Given the description of an element on the screen output the (x, y) to click on. 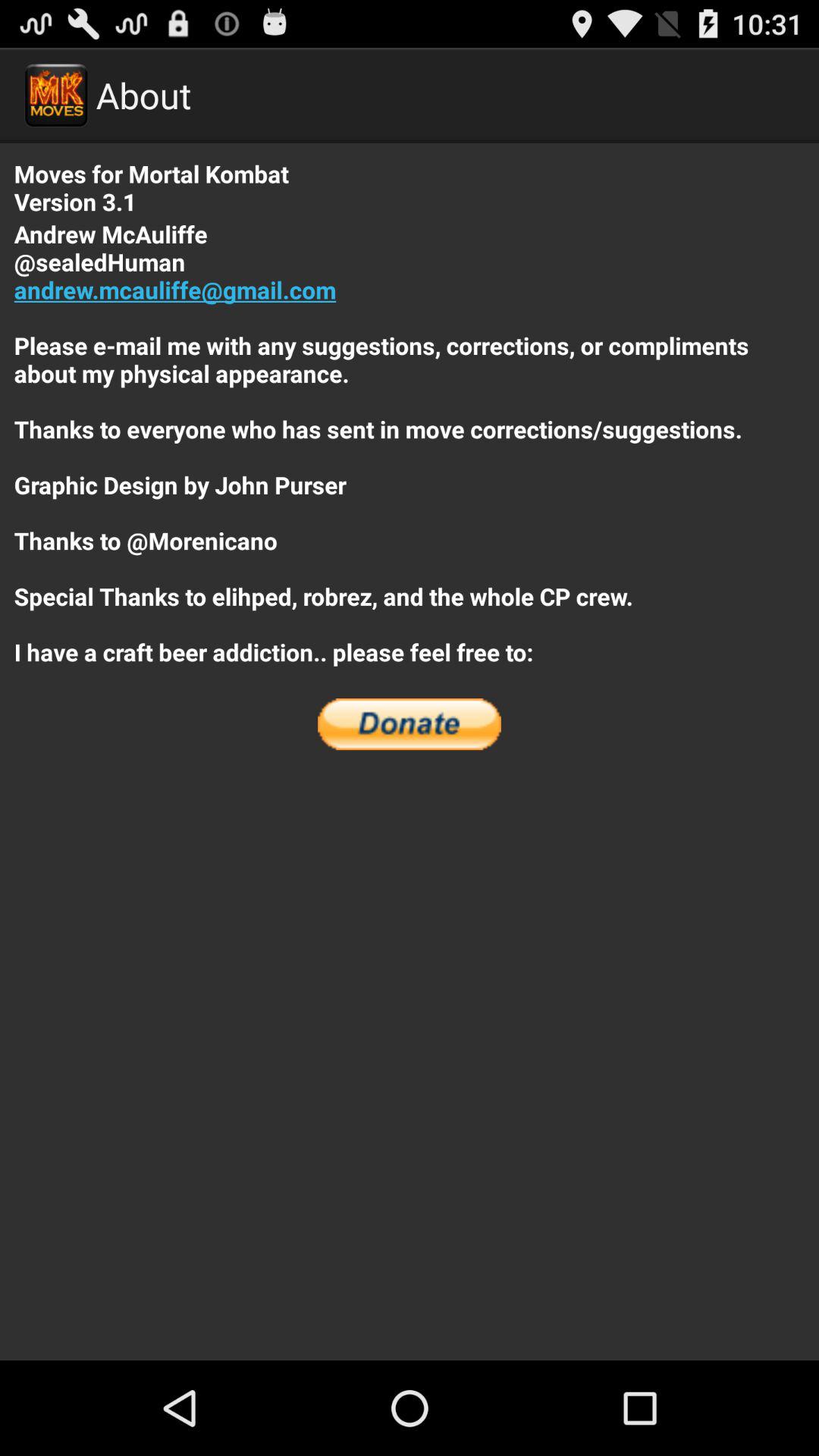
select the icon at the center (409, 724)
